Given the description of an element on the screen output the (x, y) to click on. 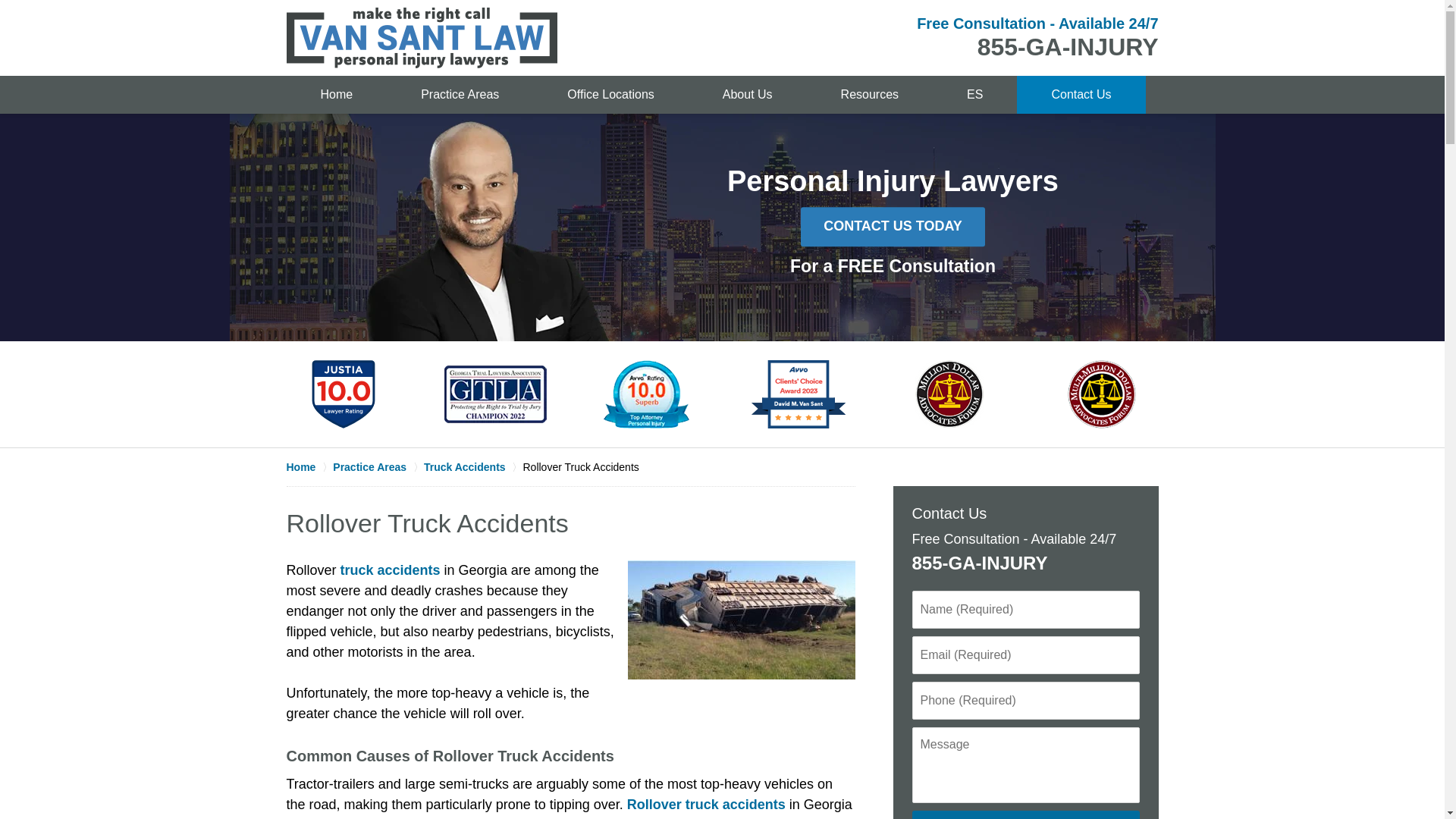
Back to Home (421, 37)
Van Sant Law LLC Home (421, 37)
Resources (869, 94)
ES (974, 94)
About Us (747, 94)
Message (1024, 765)
Office Locations (609, 94)
Contact Us (1080, 94)
Home (336, 94)
Practice Areas (459, 94)
